Given the description of an element on the screen output the (x, y) to click on. 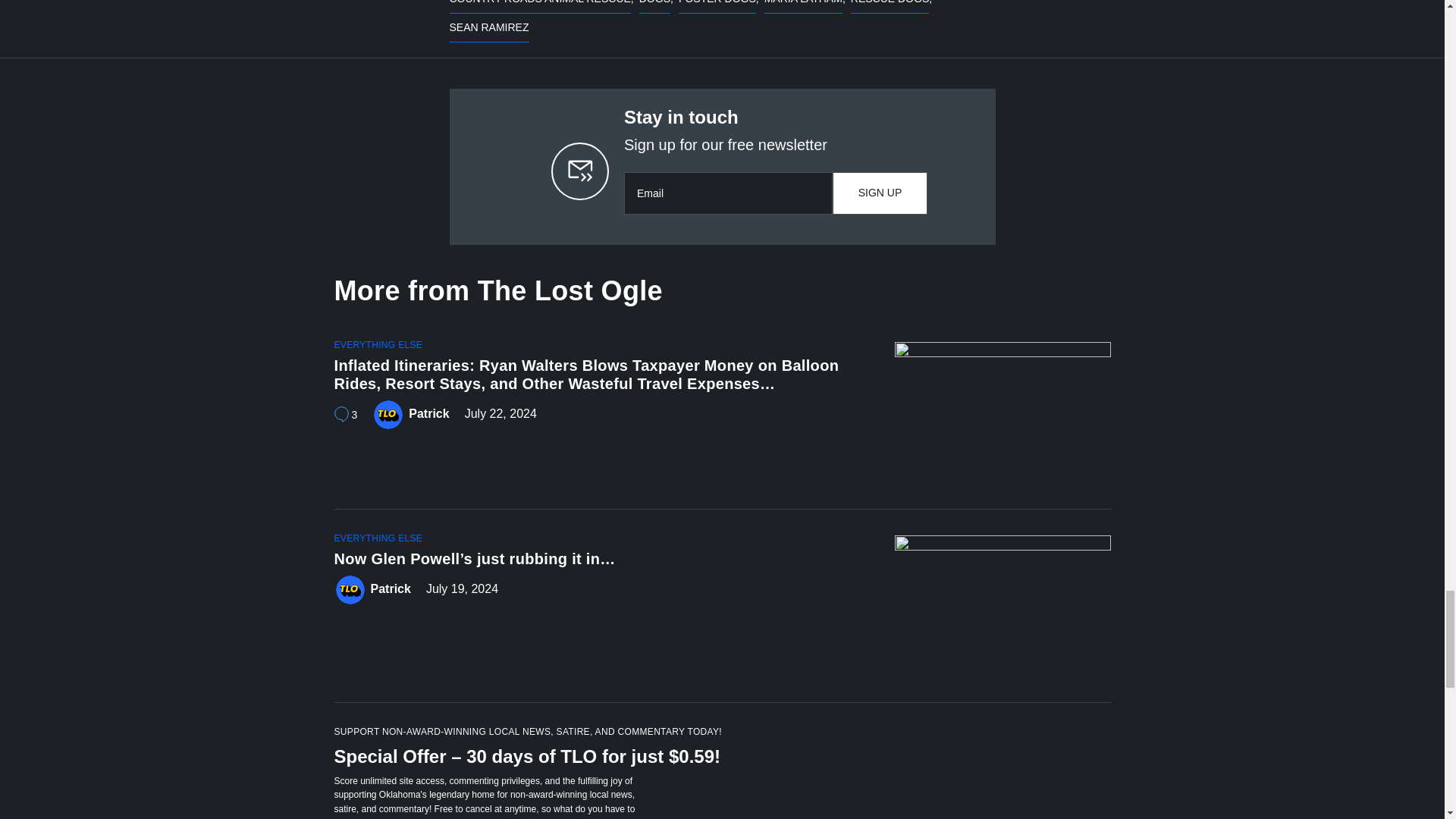
COUNTRY ROADS ANIMAL RESCUE (539, 6)
FOSTER DOGS (716, 6)
MARIA LATHAM (803, 6)
DOGS (654, 6)
